Given the description of an element on the screen output the (x, y) to click on. 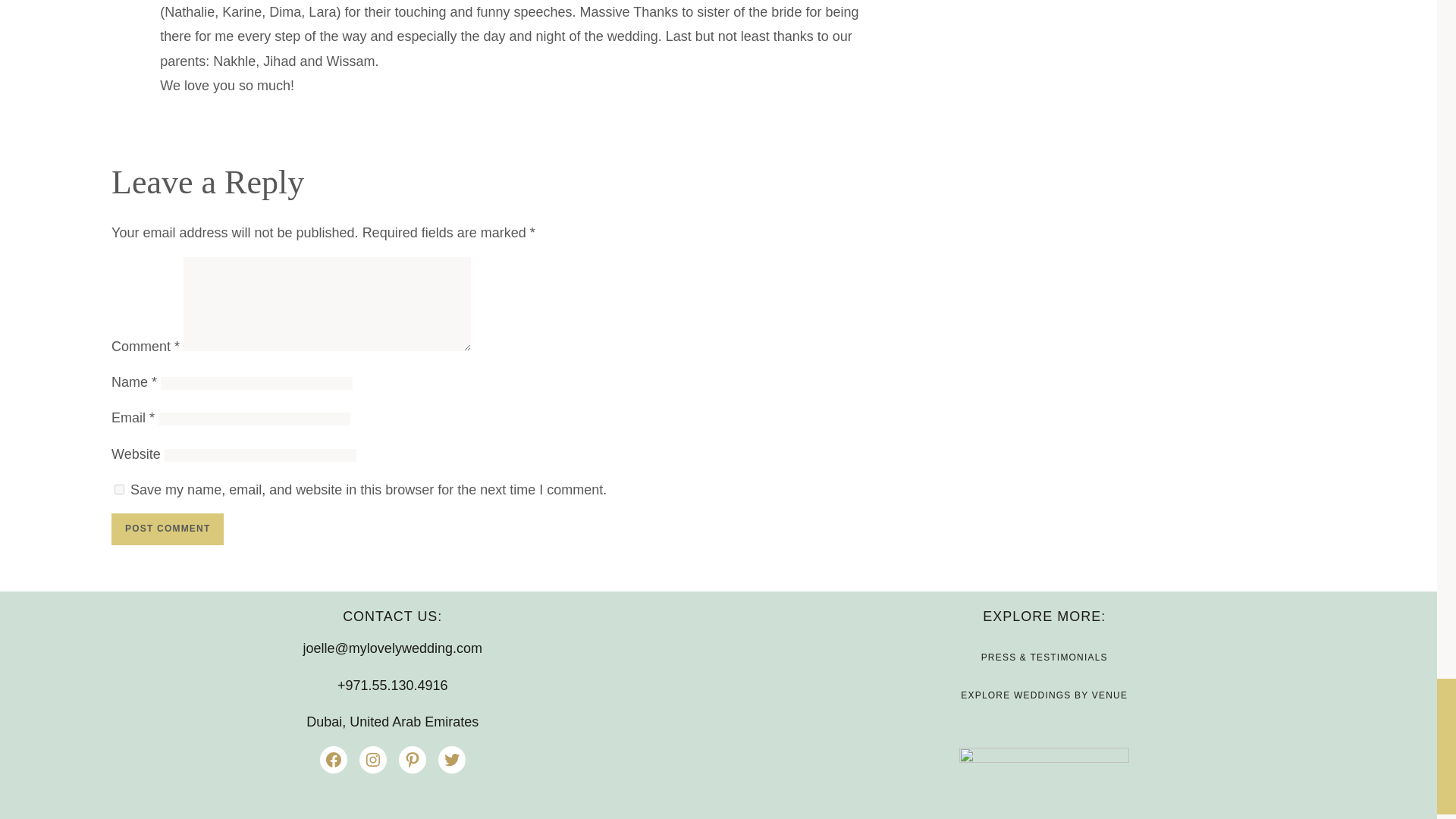
yes (119, 489)
Post Comment (168, 529)
